Given the description of an element on the screen output the (x, y) to click on. 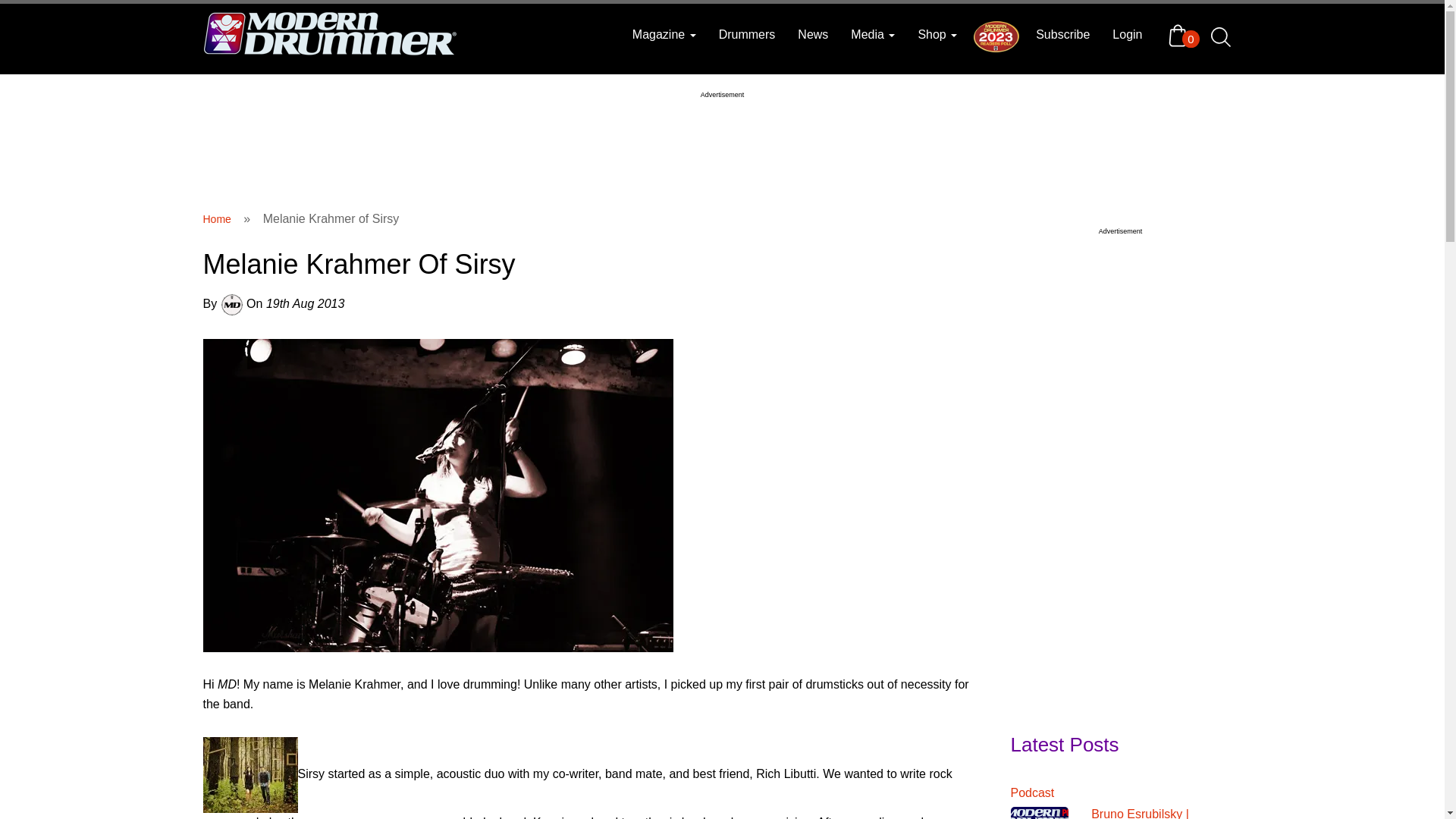
Drummers (747, 34)
Media (872, 34)
View your Orders (1180, 35)
subscribe (1062, 34)
Magazine (664, 34)
Shop (936, 34)
Subscribe (1062, 34)
0 (1180, 35)
